Given the description of an element on the screen output the (x, y) to click on. 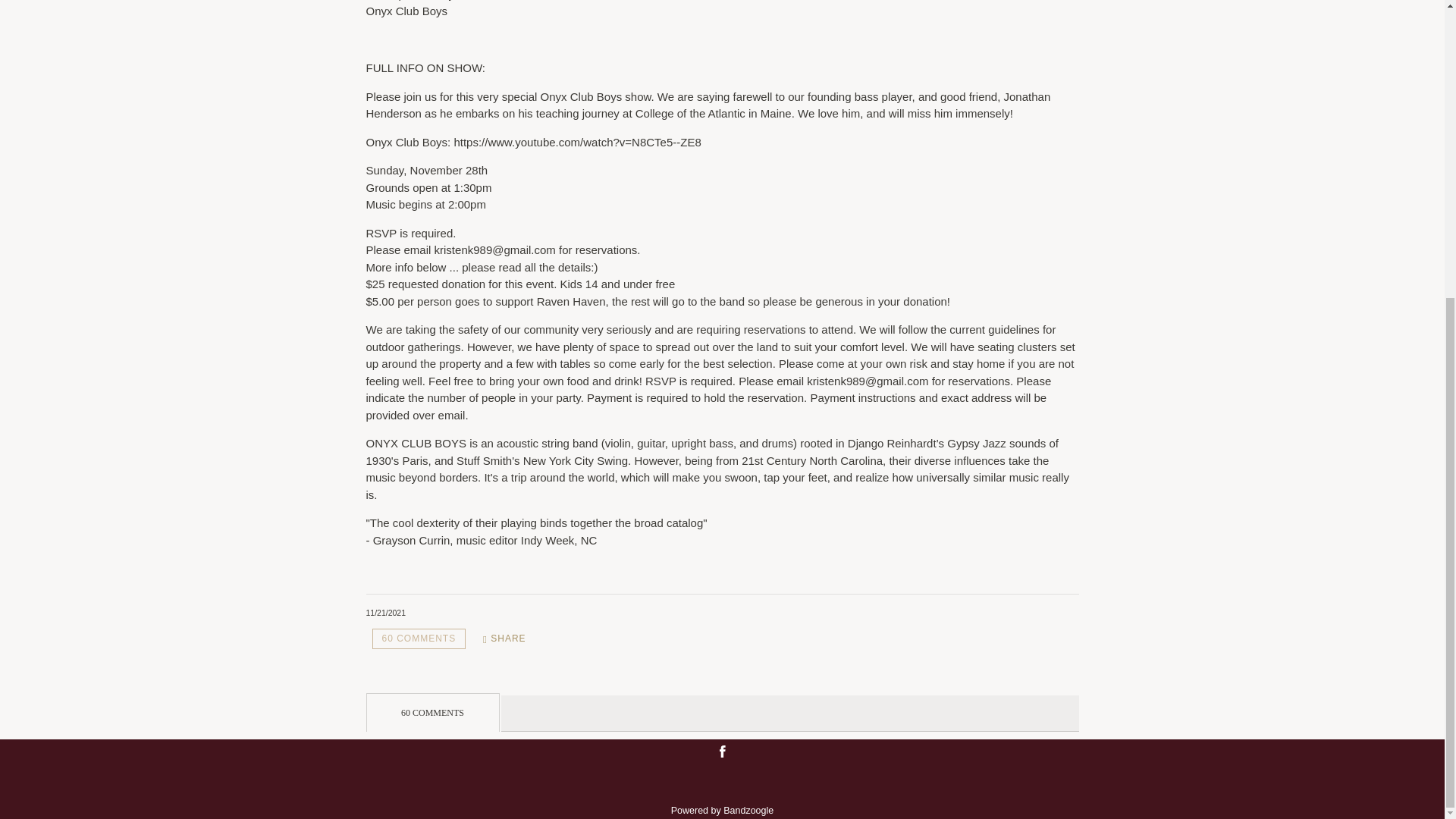
Share Last Show of 2021! (504, 638)
60 comments (418, 638)
Powered by Bandzoogle (722, 810)
Powered by Bandzoogle (722, 810)
60 COMMENTS (418, 638)
November 21, 2021 21:47 (385, 612)
SHARE (504, 638)
